Given the description of an element on the screen output the (x, y) to click on. 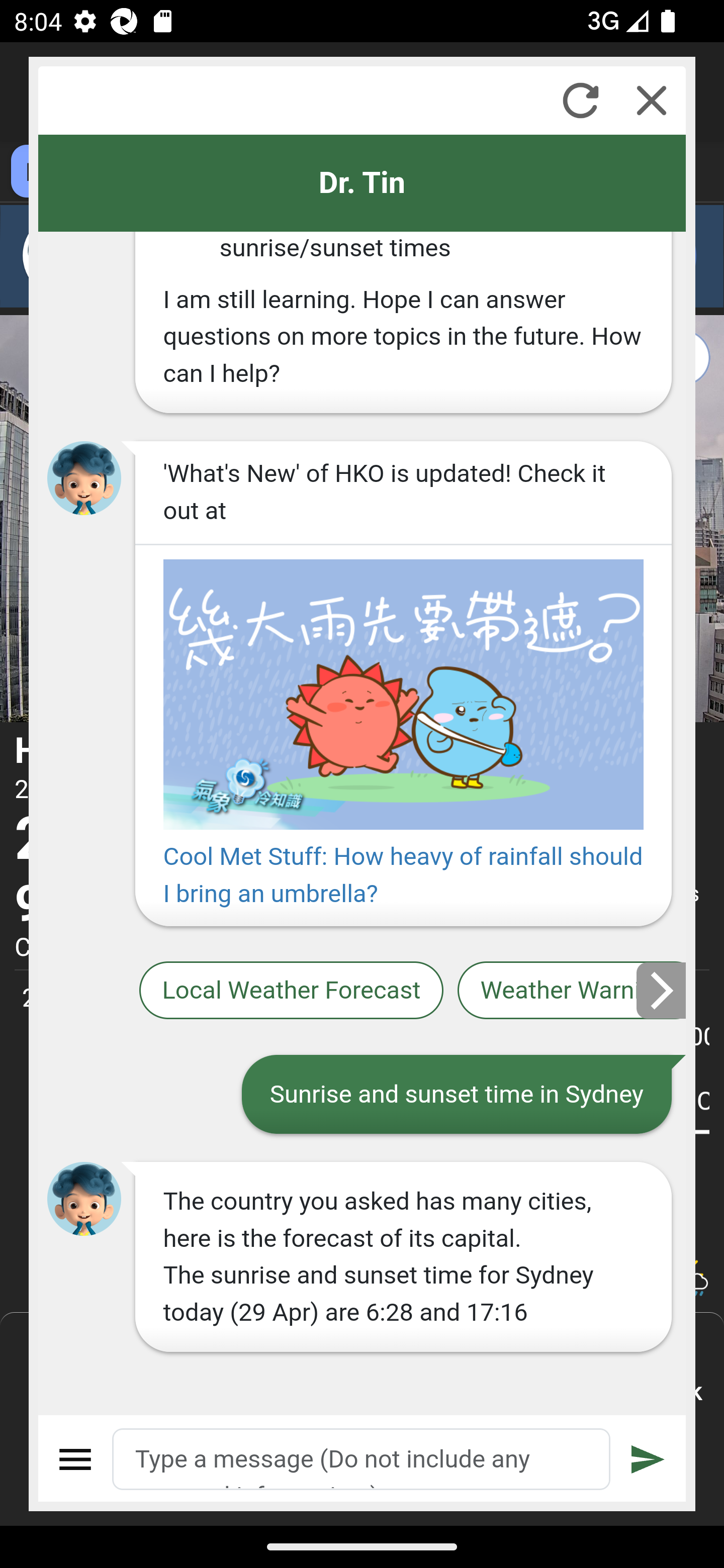
Refresh (580, 100)
Close (651, 100)
Local Weather Forecast (291, 990)
Weather Warnings (571, 990)
Next slide (661, 990)
Menu (75, 1458)
Submit (648, 1458)
